Given the description of an element on the screen output the (x, y) to click on. 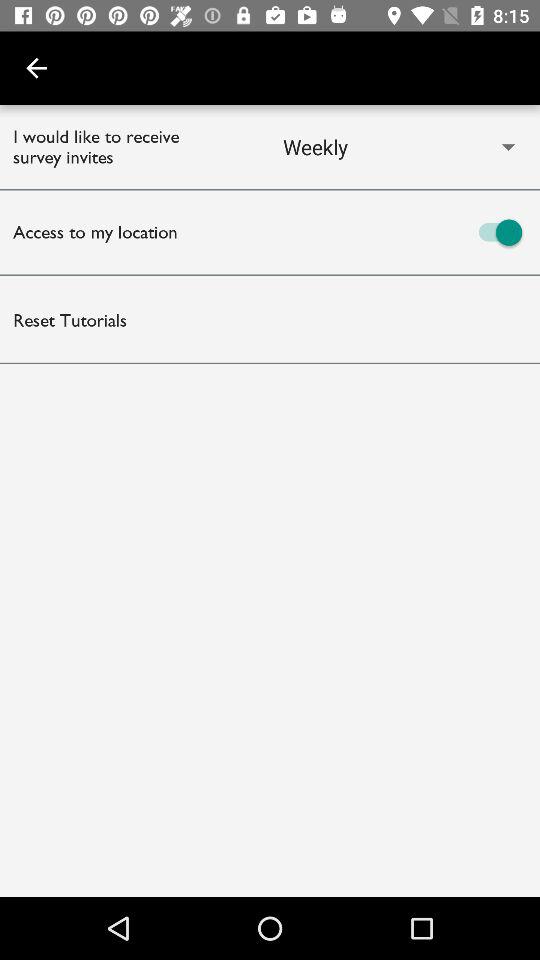
switch access to my location option (405, 232)
